Given the description of an element on the screen output the (x, y) to click on. 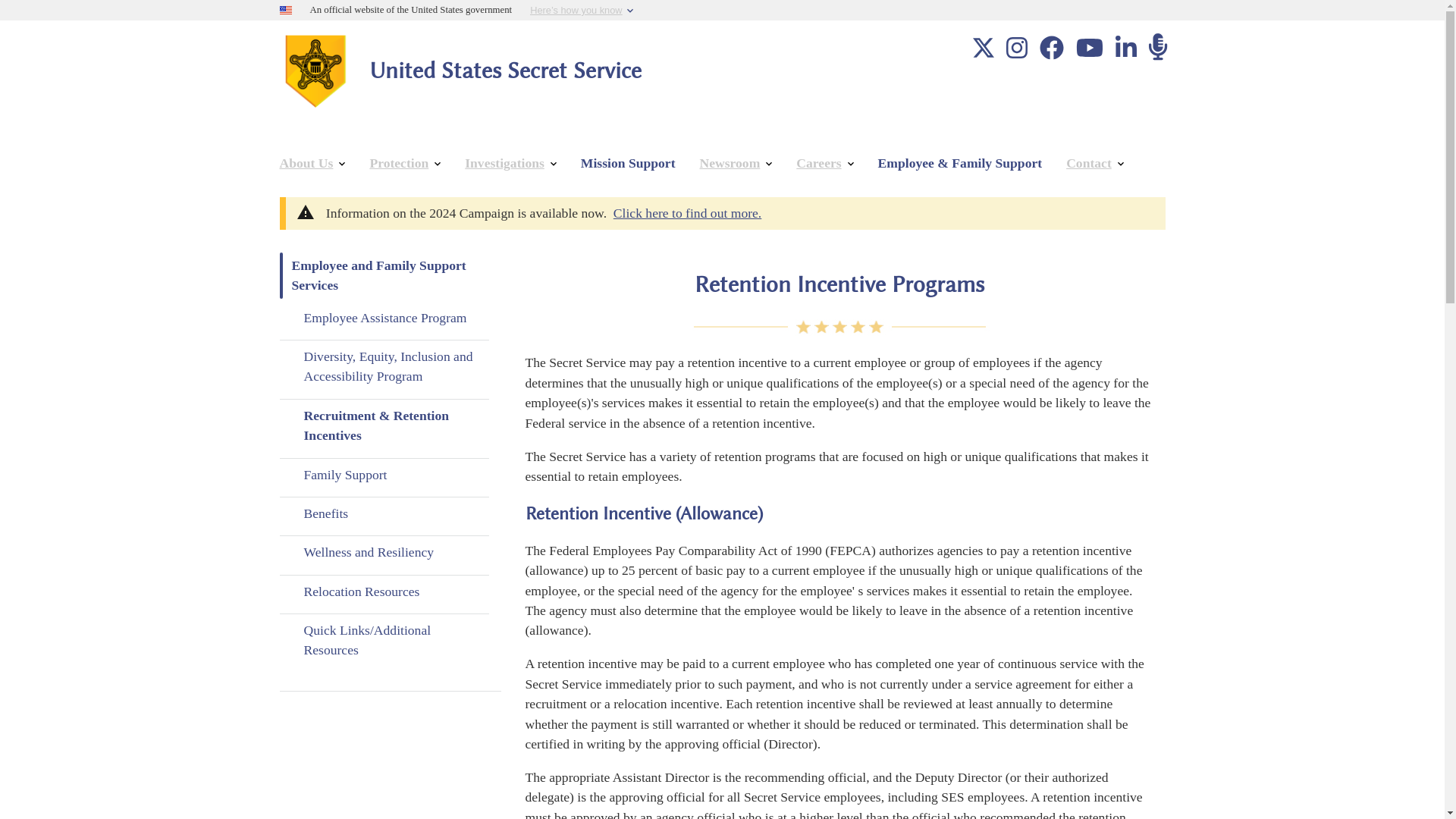
 Go to United States Secret Service home page (496, 69)
Protection (404, 163)
Diversity, Equity, Inclusion and Accessibility Program (383, 366)
Relocation Resources (383, 591)
MENU (291, 124)
Campaign 2024 - Candidate Protection (686, 212)
Investigations (510, 163)
About Us (311, 163)
United States Secret Service (496, 69)
Go to United States Secret Service home page (315, 69)
Benefits (383, 513)
Newsroom (735, 163)
Contact (1094, 163)
Careers (824, 163)
Family Support (383, 474)
